Given the description of an element on the screen output the (x, y) to click on. 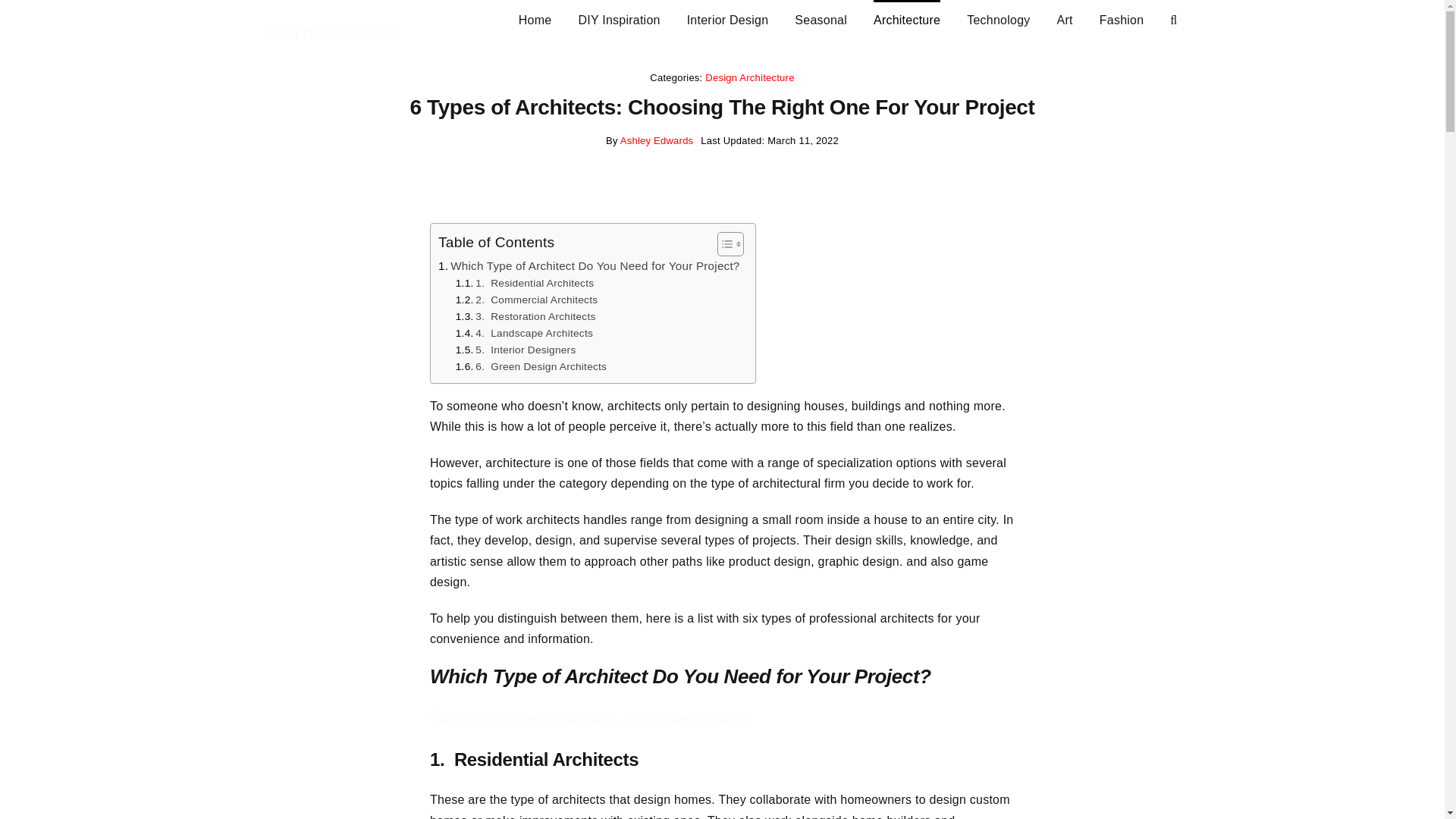
diy-inspiration (618, 18)
Interior Design (727, 18)
interior-design (727, 18)
Architecture (906, 18)
Seasonal (820, 18)
DIY Inspiration (618, 18)
